Given the description of an element on the screen output the (x, y) to click on. 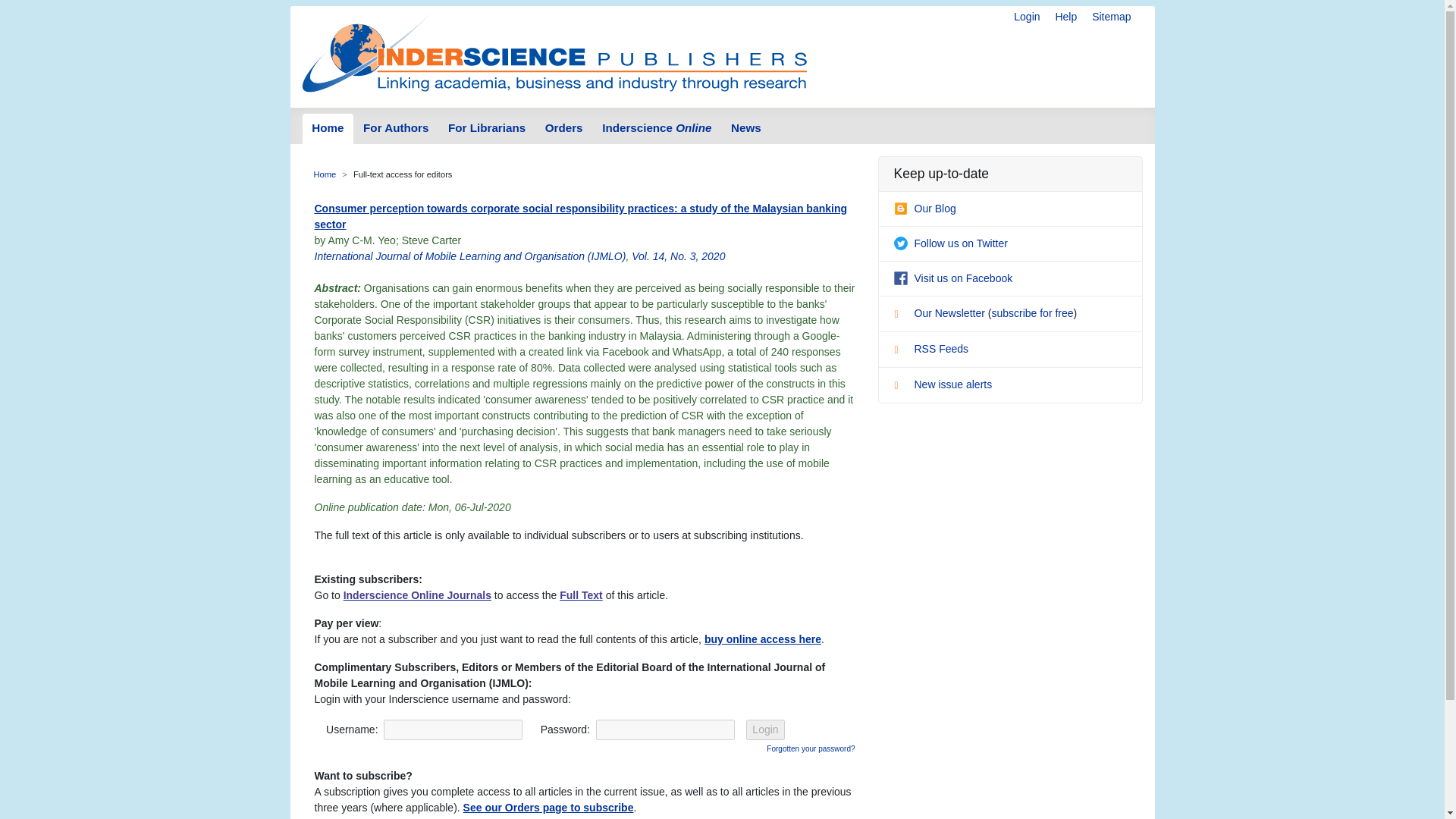
Sitemap (1111, 16)
Vol. 14, No. 3, 2020 (678, 256)
News (745, 128)
subscribe for free (1032, 313)
list (901, 315)
RSS (901, 351)
Login (764, 729)
For Authors (395, 128)
Home (325, 174)
RSS Feeds (930, 348)
